Given the description of an element on the screen output the (x, y) to click on. 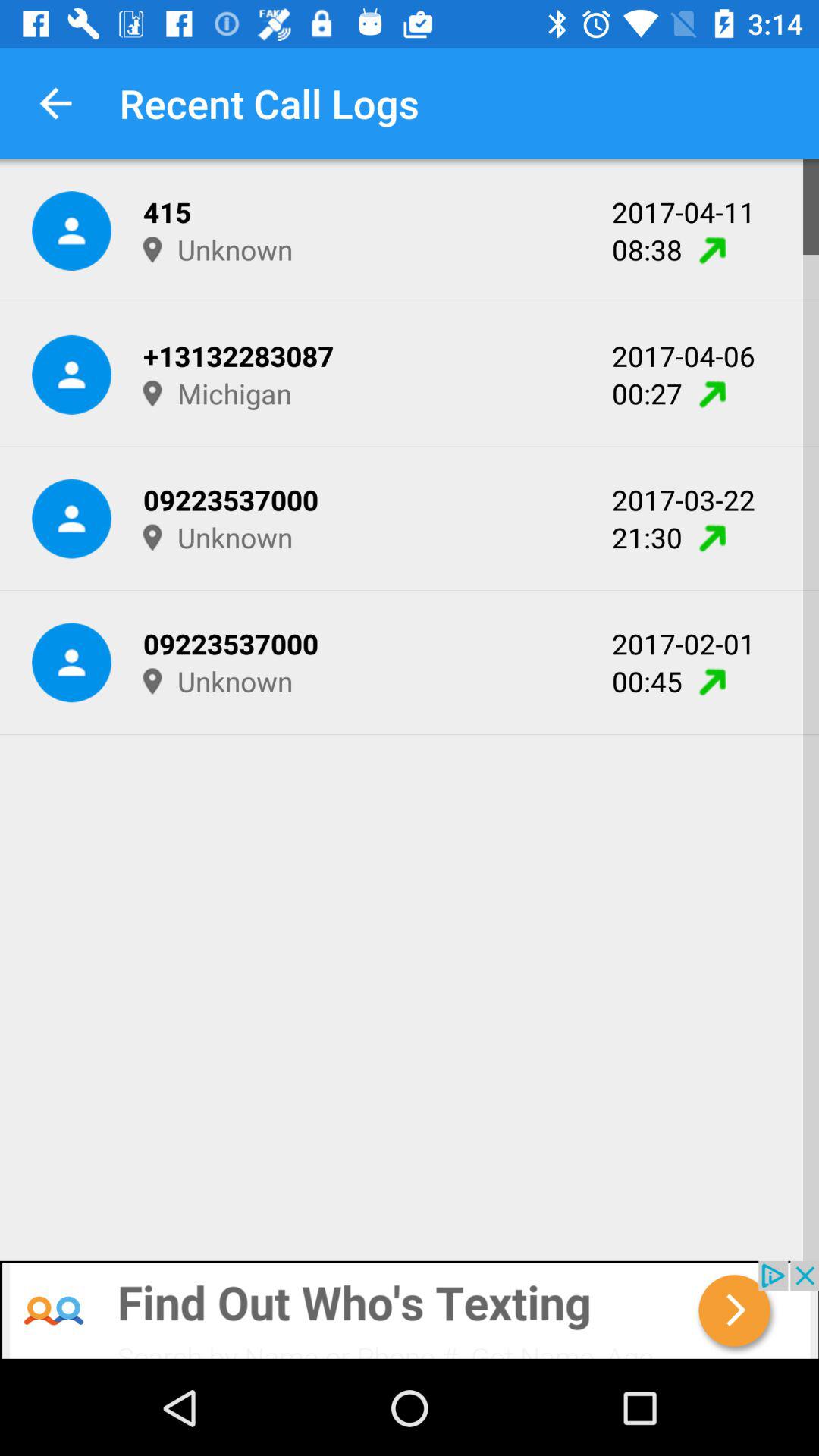
discover people in your recent call log that are currently texting (409, 1310)
